Given the description of an element on the screen output the (x, y) to click on. 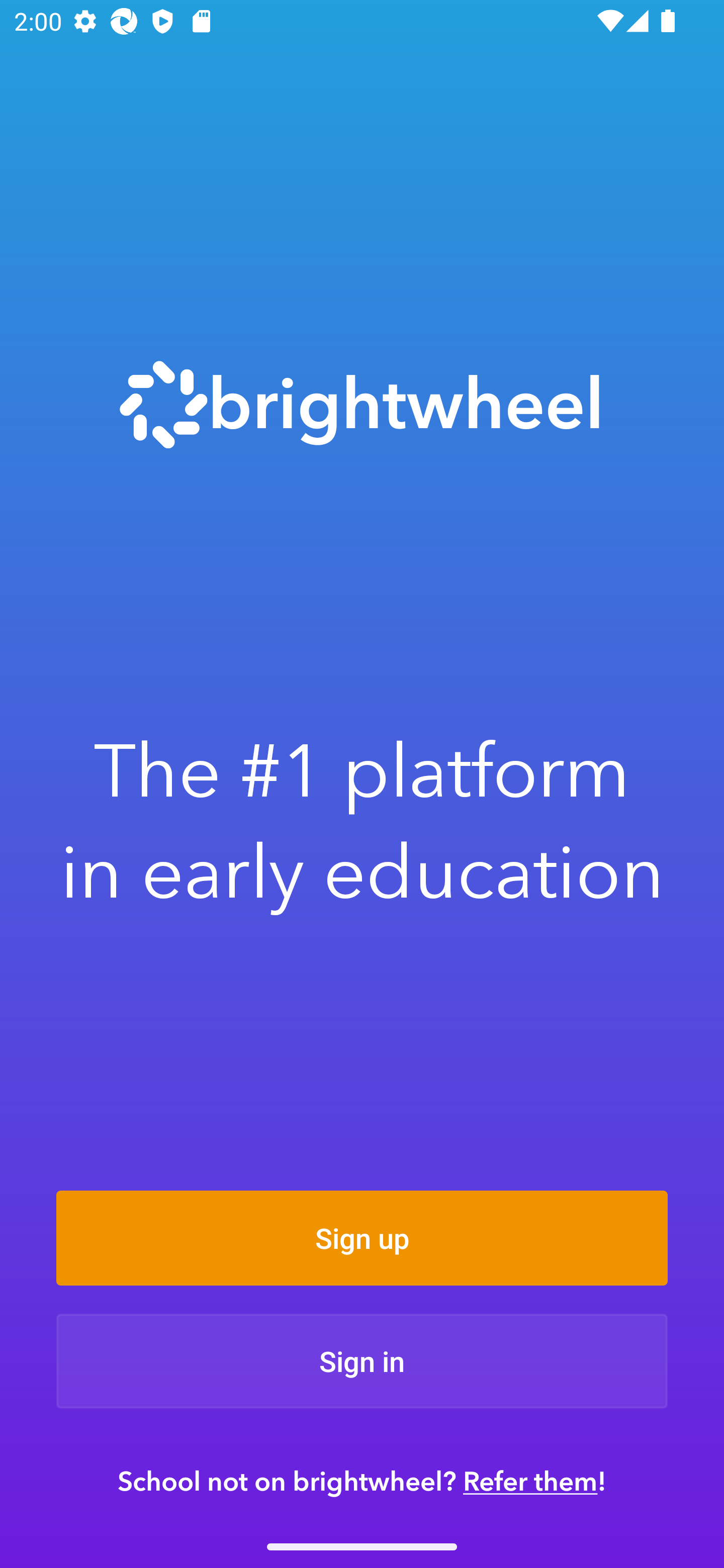
Sign up (361, 1237)
Sign in (361, 1360)
School not on brightwheel? Refer them! (361, 1480)
